Given the description of an element on the screen output the (x, y) to click on. 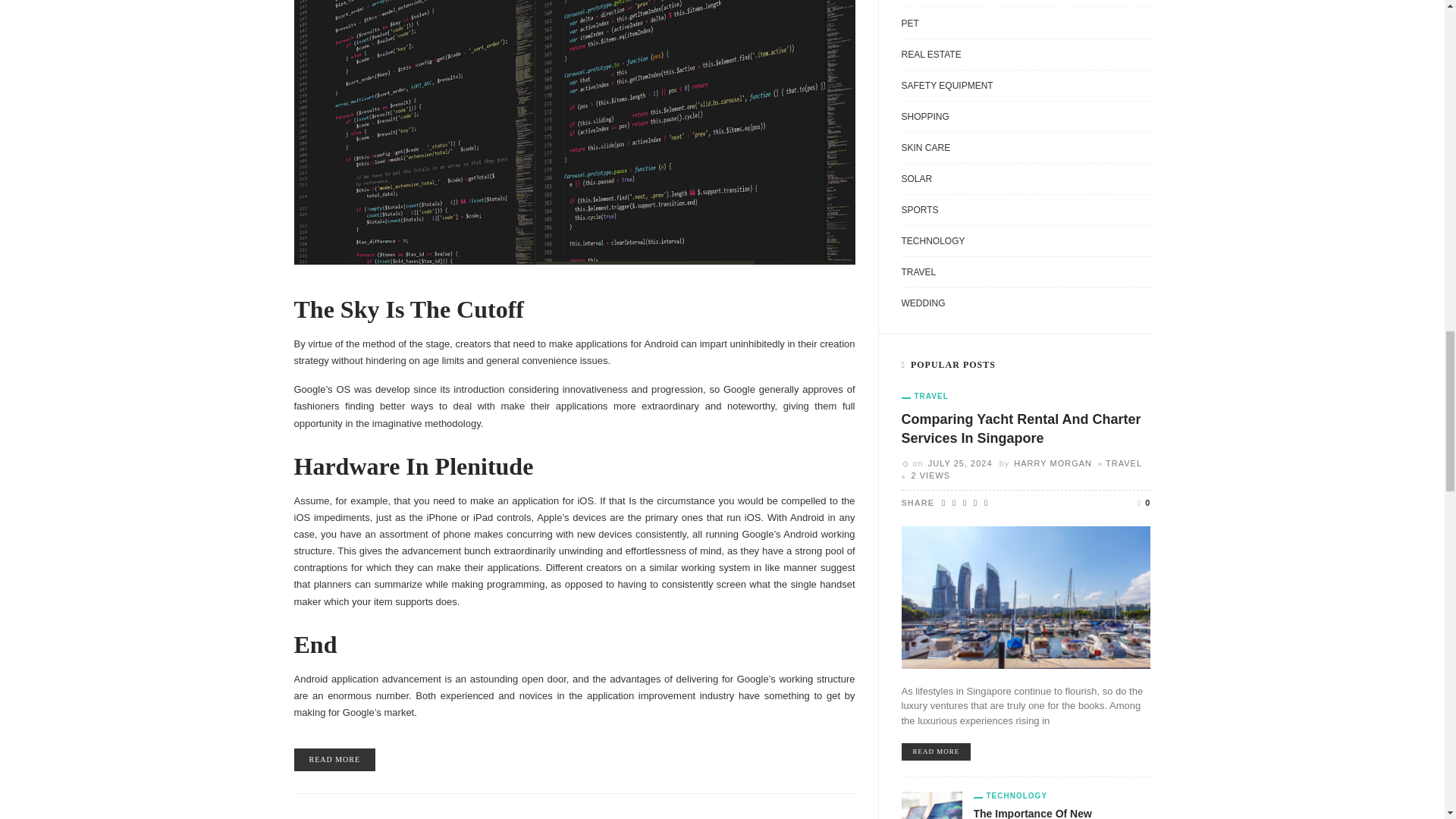
Travel (1123, 462)
Technology (1011, 795)
Comparing Yacht Rental and Charter Services in Singapore (1020, 428)
Comparing Yacht Rental and Charter Services in Singapore (1025, 596)
Travel (924, 396)
Comparing Yacht Rental and Charter Services in Singapore (930, 474)
Comparing Yacht Rental and Charter Services in Singapore (936, 751)
